Given the description of an element on the screen output the (x, y) to click on. 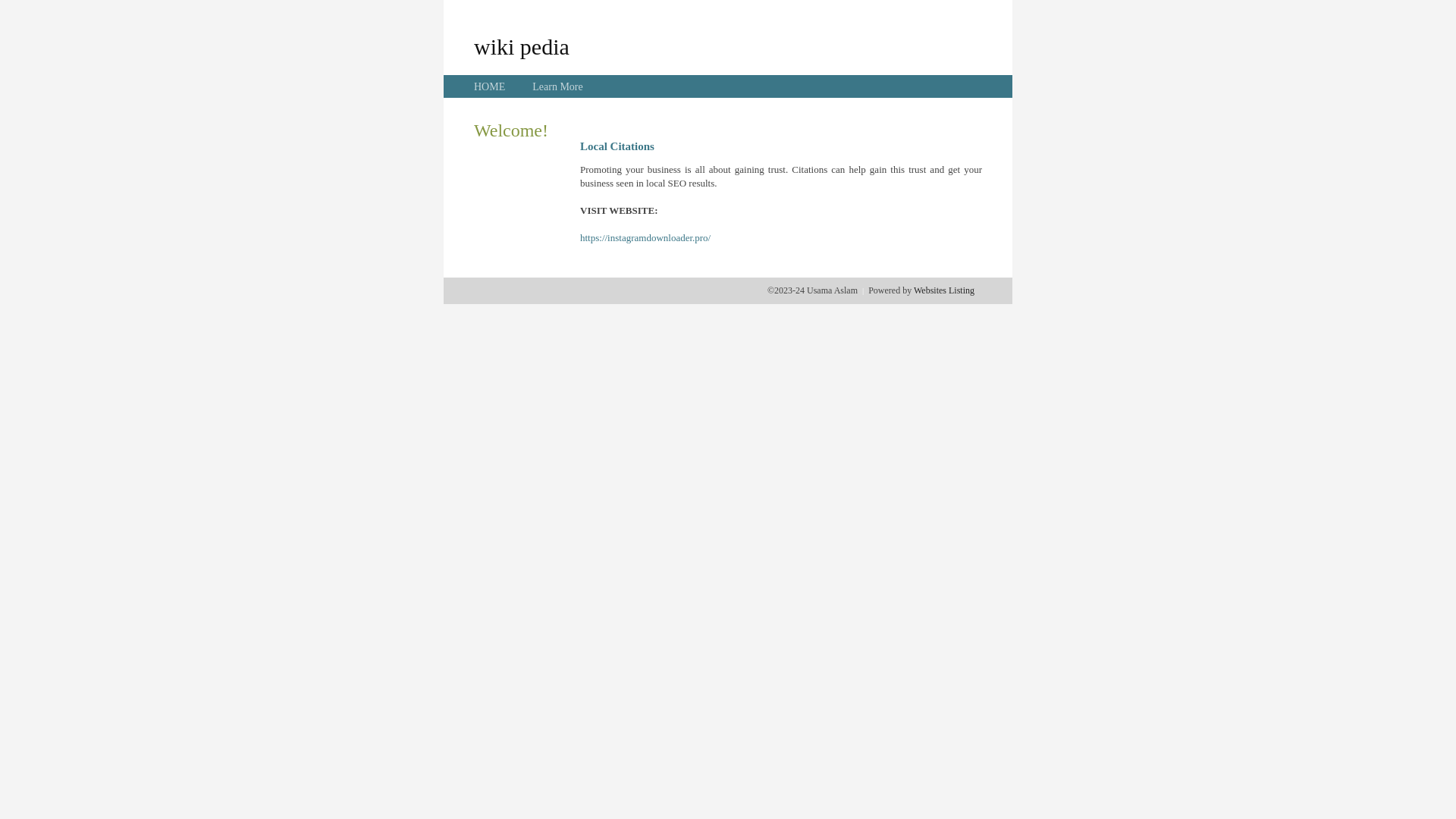
wiki pedia Element type: text (521, 46)
Learn More Element type: text (557, 86)
https://instagramdownloader.pro/ Element type: text (645, 237)
Websites Listing Element type: text (943, 290)
HOME Element type: text (489, 86)
